Given the description of an element on the screen output the (x, y) to click on. 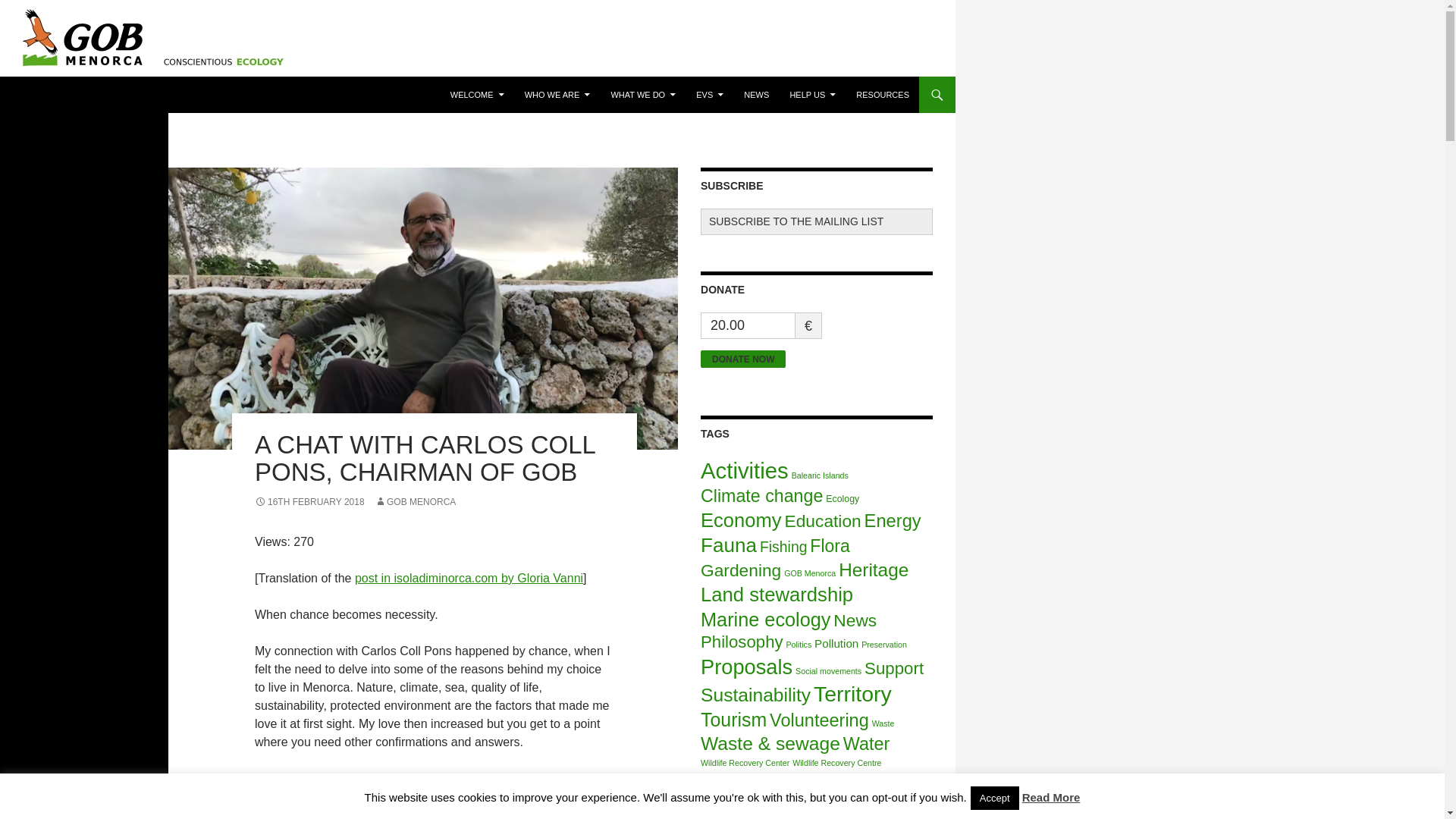
post in isoladiminorca.com by Gloria Vanni (469, 577)
WHO WE ARE (557, 94)
HELP US (812, 94)
GOB Menorca (68, 94)
WELCOME (477, 94)
WHAT WE DO (642, 94)
GOB MENORCA (414, 501)
16TH FEBRUARY 2018 (309, 501)
NEWS (756, 94)
RESOURCES (882, 94)
20.00 (747, 325)
EVS (709, 94)
